Given the description of an element on the screen output the (x, y) to click on. 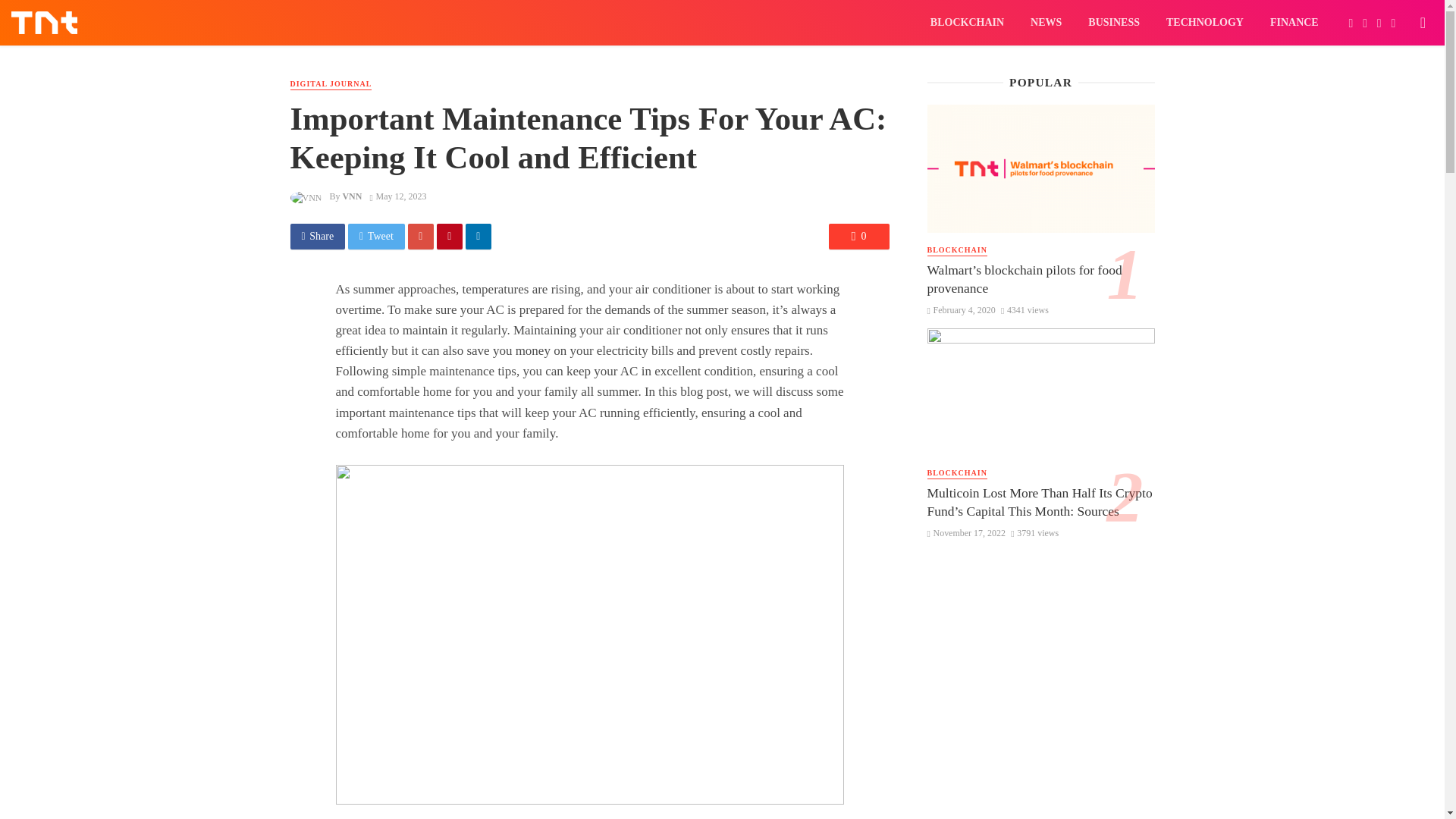
Tweet (375, 236)
May 12, 2023 at 3:30 pm (397, 195)
TECHNOLOGY (1204, 22)
Share on Facebook (317, 236)
NEWS (1046, 22)
VNN (351, 195)
0 (858, 236)
Share (317, 236)
Share on Linkedin (478, 236)
0 Comments (858, 236)
